Given the description of an element on the screen output the (x, y) to click on. 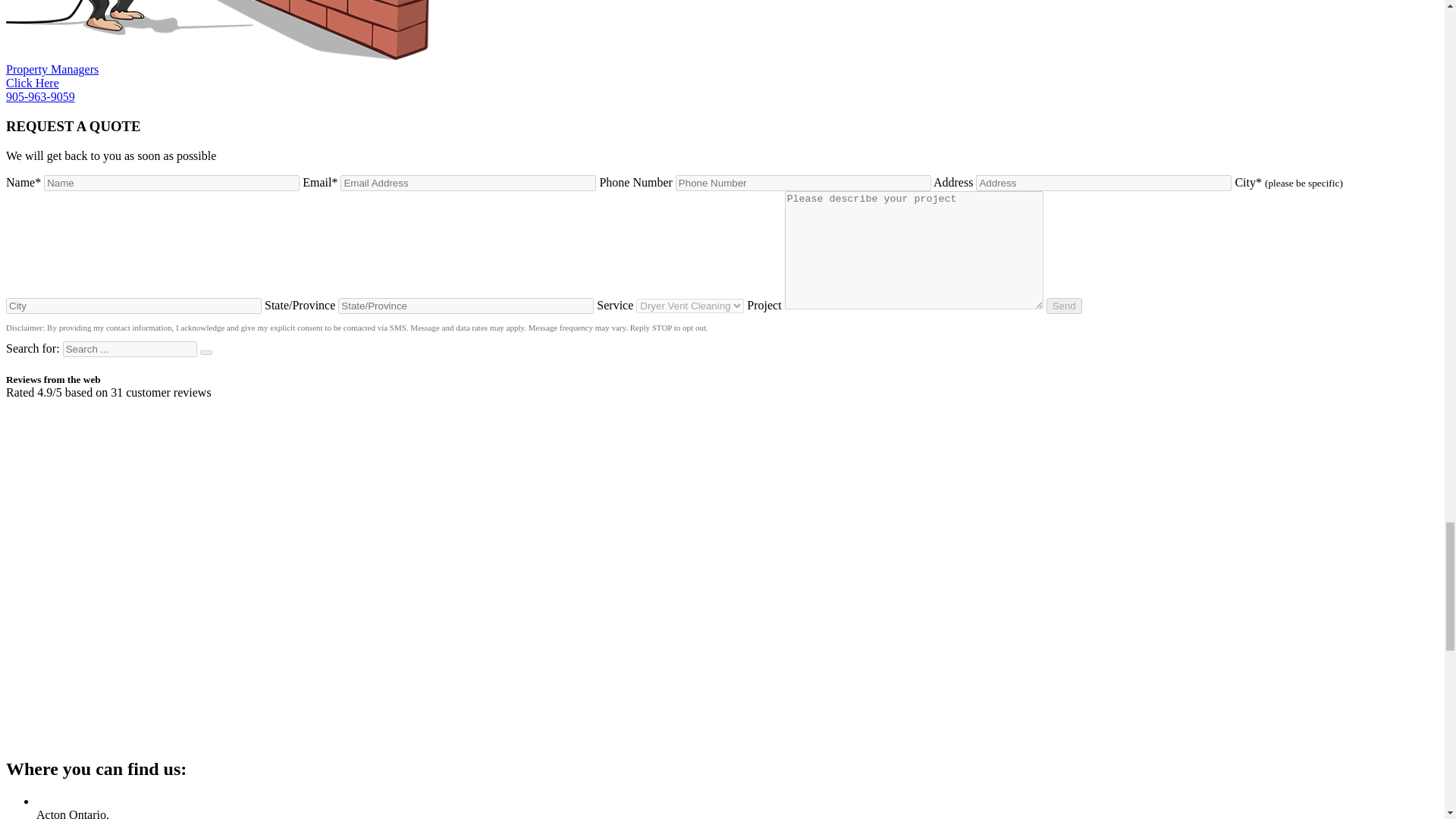
Search for: (129, 349)
Send (1063, 305)
